Given the description of an element on the screen output the (x, y) to click on. 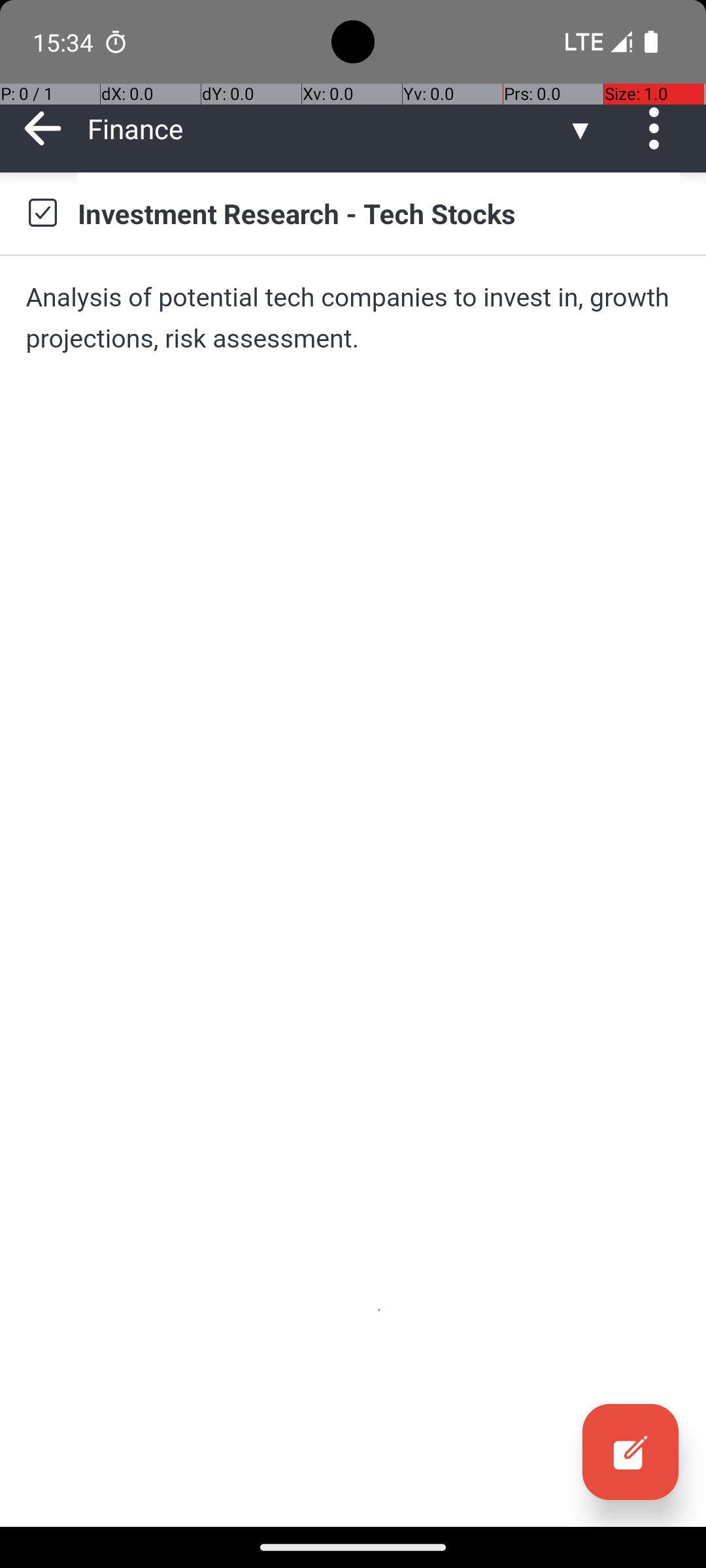
Investment Research - Tech Stocks Element type: android.widget.EditText (378, 213)
Analysis of potential tech companies to invest in, growth projections, risk assessment. Element type: android.widget.TextView (352, 317)
